Given the description of an element on the screen output the (x, y) to click on. 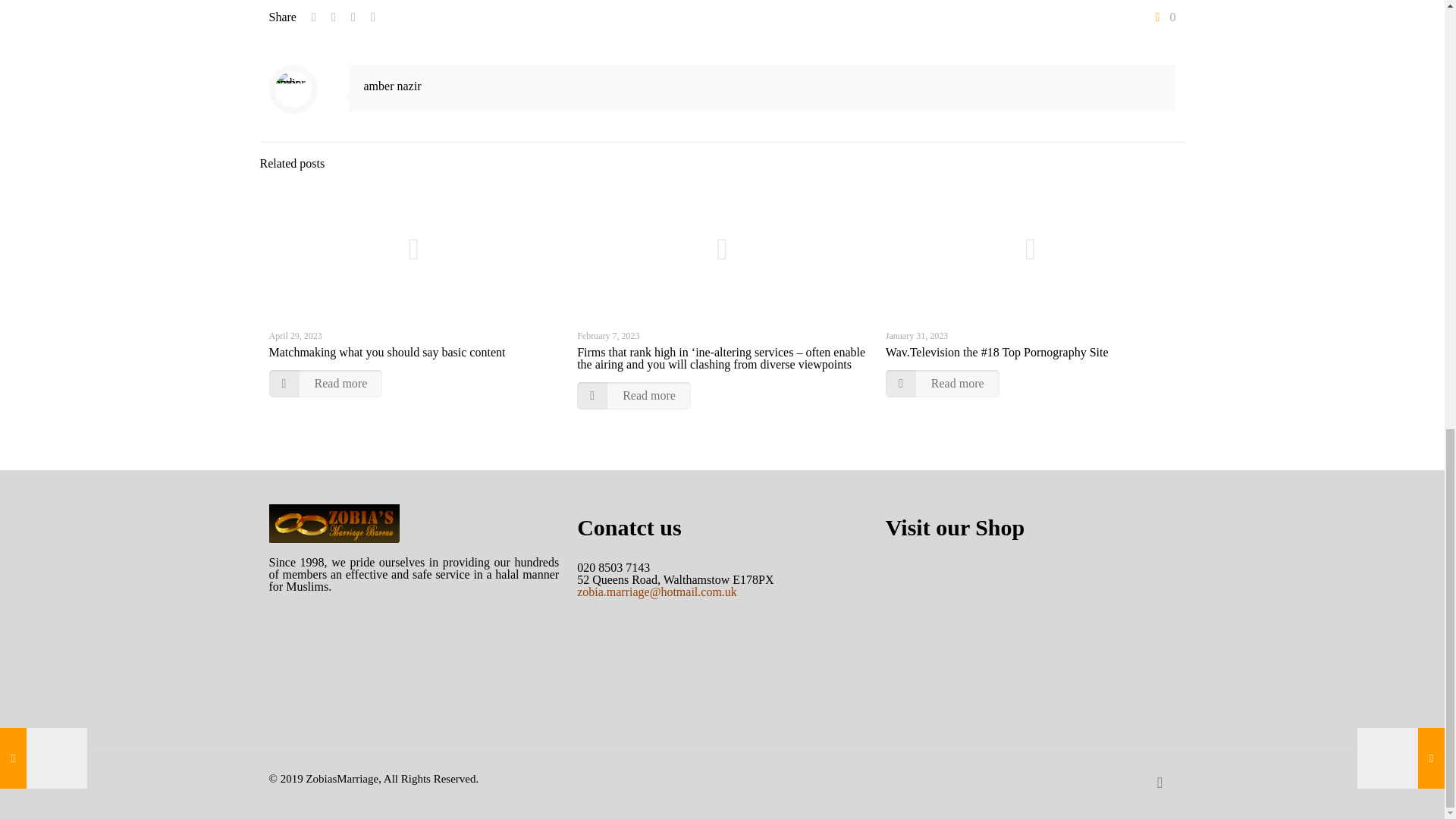
Read more (324, 383)
Matchmaking what you should say basic content (386, 351)
0 (1162, 17)
amber nazir (393, 85)
Read more (941, 383)
Read more (633, 395)
